Given the description of an element on the screen output the (x, y) to click on. 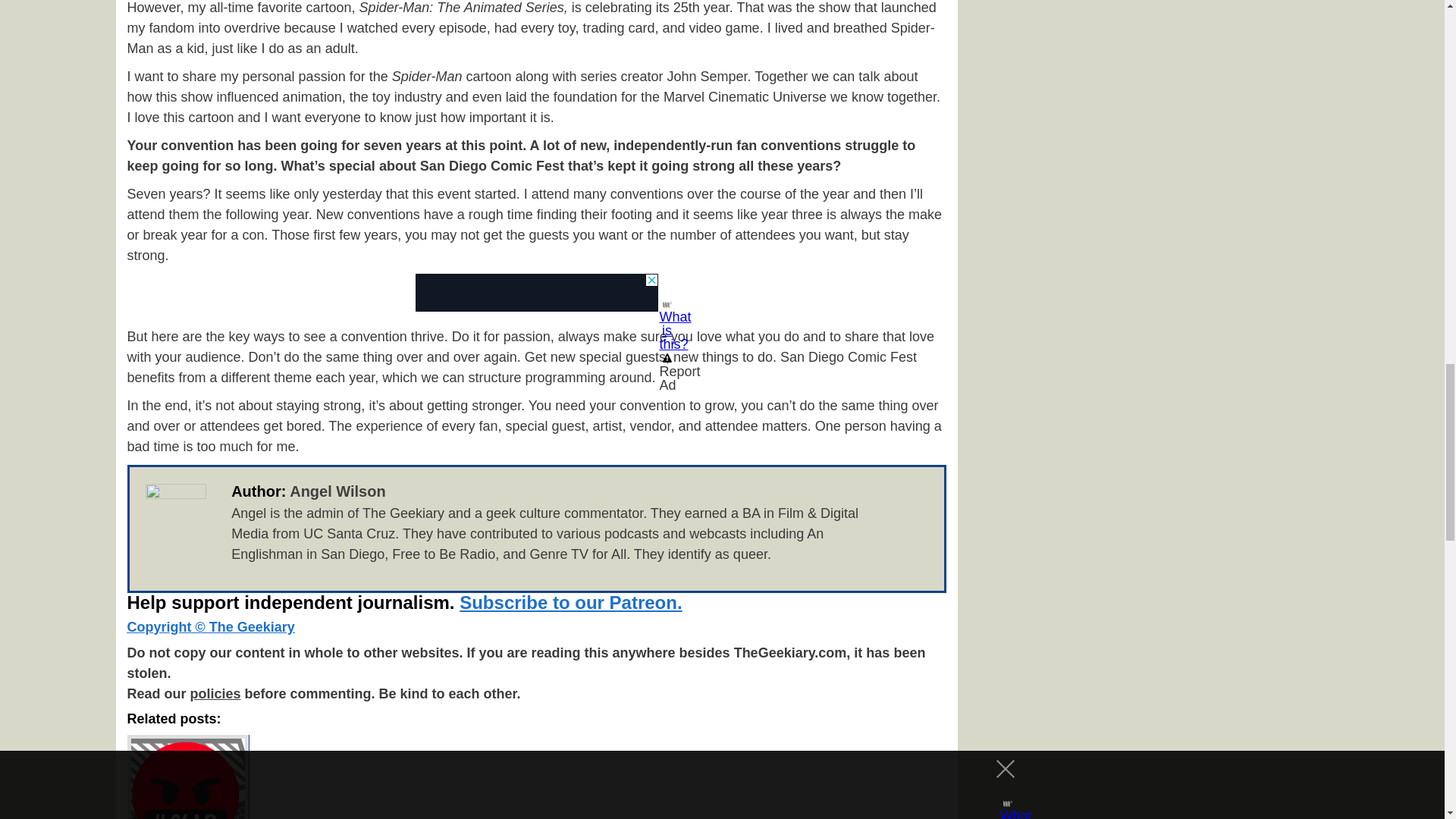
3rd party ad content (536, 292)
